Given the description of an element on the screen output the (x, y) to click on. 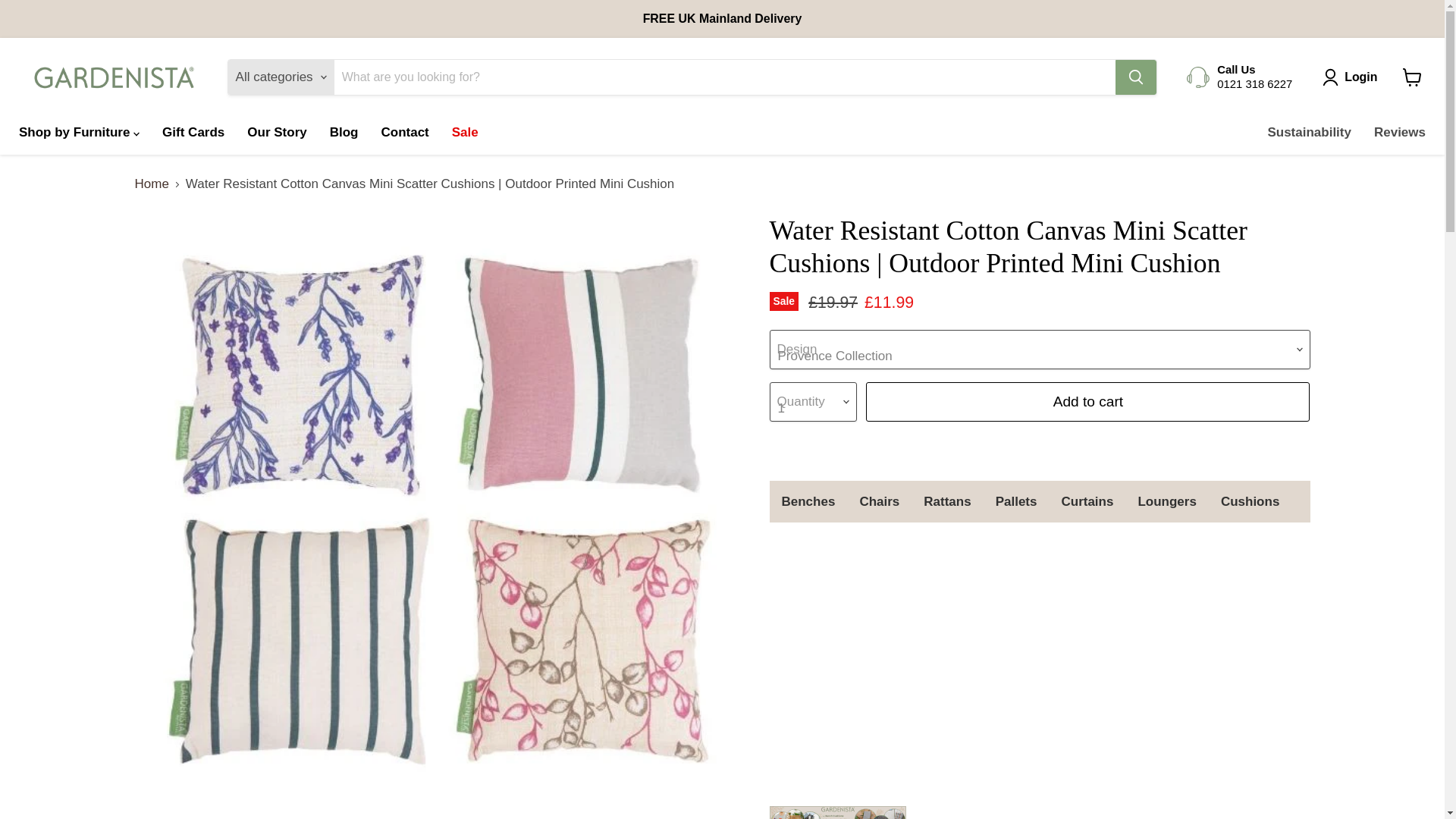
Blog (343, 132)
Reviews (1399, 132)
Sustainability (1308, 132)
Contact (404, 132)
View cart (1411, 77)
Sale (465, 132)
Our Story (276, 132)
Gift Cards (193, 132)
Login (1361, 76)
